Given the description of an element on the screen output the (x, y) to click on. 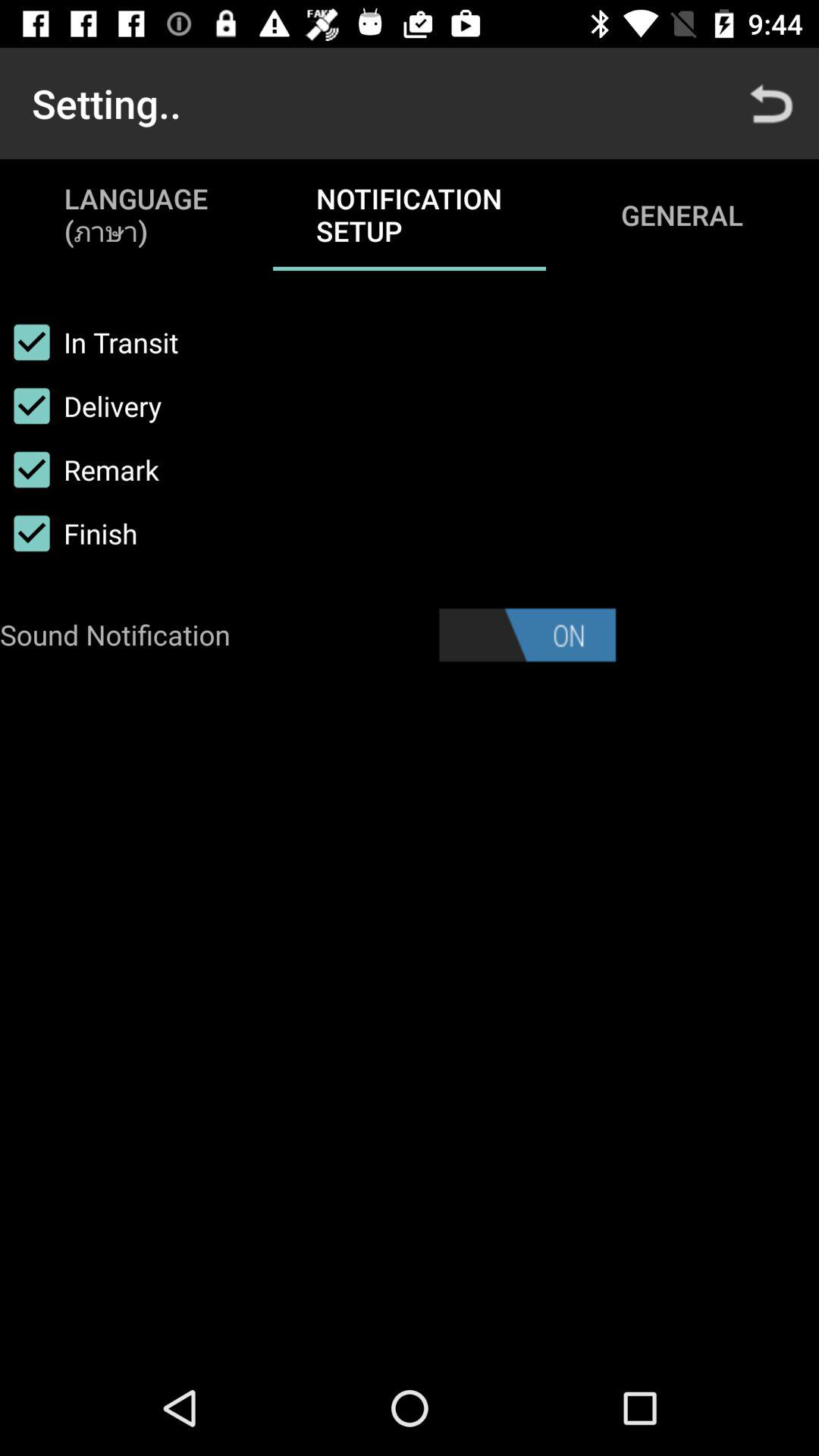
choose the item below remark item (68, 533)
